Given the description of an element on the screen output the (x, y) to click on. 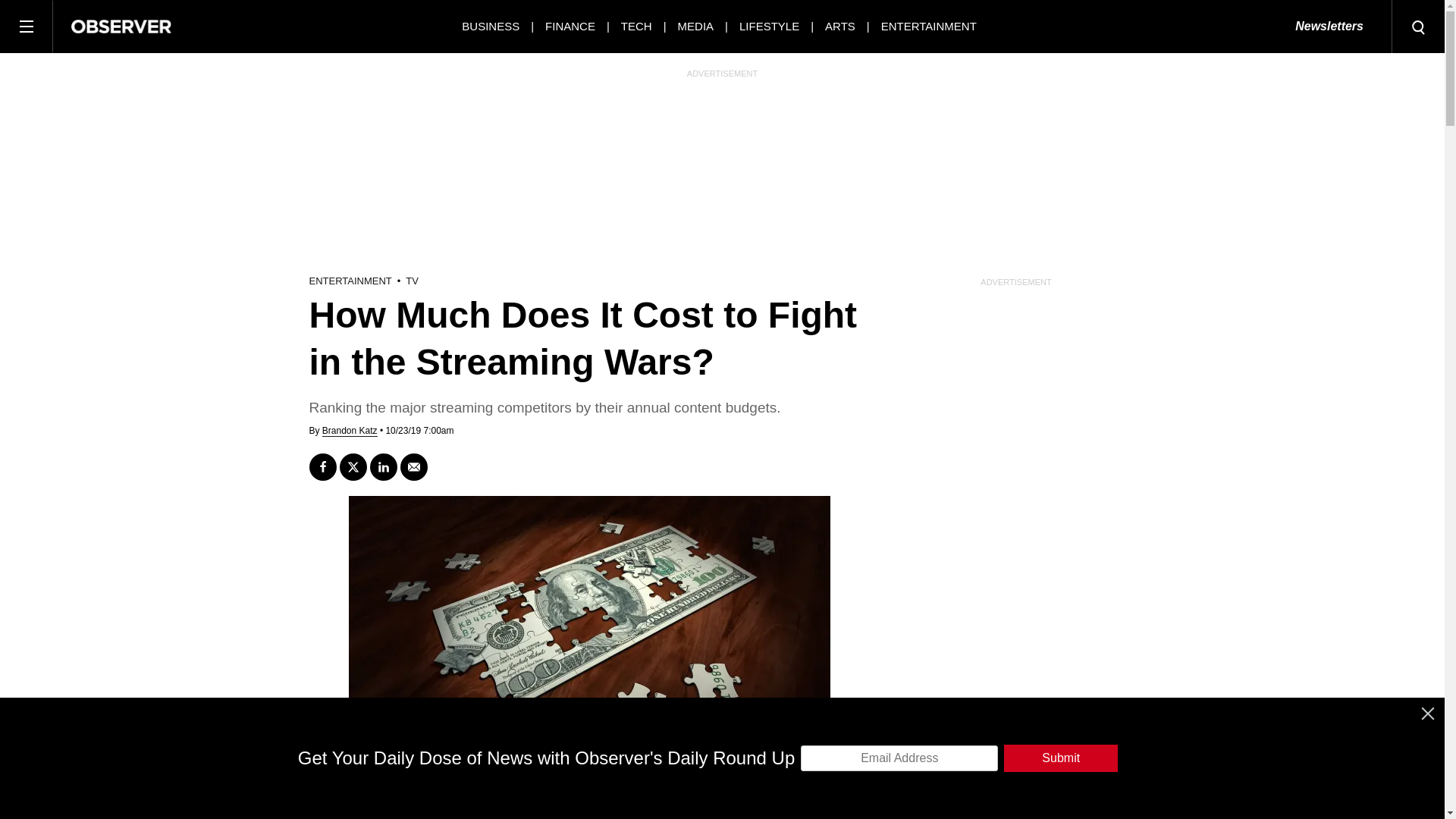
Newsletters (1329, 26)
Share on Facebook (322, 466)
View All Posts by Brandon Katz (349, 430)
FINANCE (569, 25)
LIFESTYLE (769, 25)
ENTERTAINMENT (928, 25)
TECH (636, 25)
Tweet (352, 466)
MEDIA (696, 25)
ARTS (840, 25)
